Given the description of an element on the screen output the (x, y) to click on. 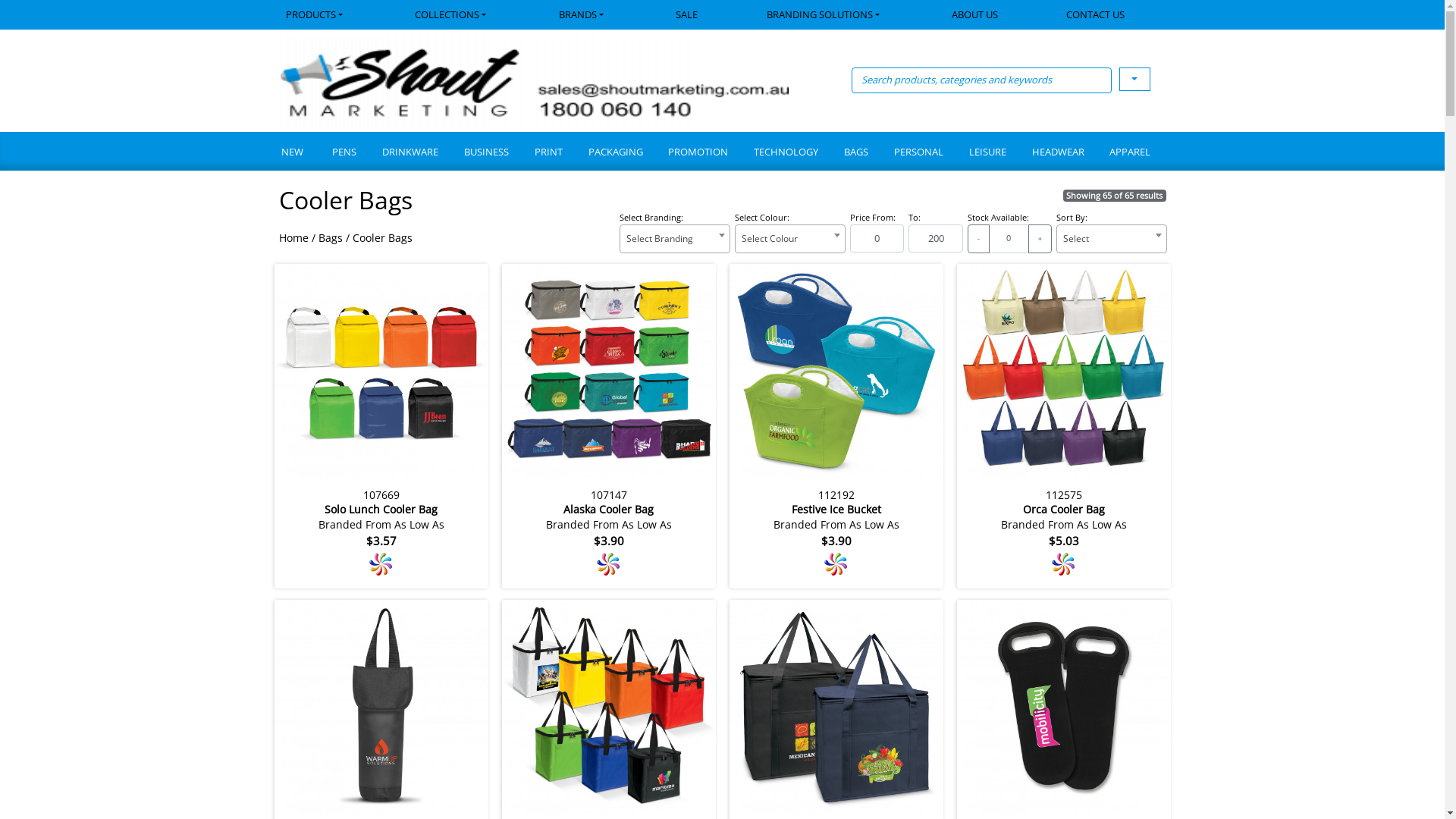
APPAREL Element type: text (1129, 152)
Full colour branding available. Element type: hover (1063, 563)
HEADWEAR Element type: text (1057, 152)
DRINKWARE Element type: text (409, 152)
ABOUT US Element type: text (975, 14)
+ Element type: text (1039, 238)
BRANDING SOLUTIONS Element type: text (824, 14)
PRINT Element type: text (547, 152)
Home Element type: text (293, 237)
BUSINESS Element type: text (485, 152)
PENS Element type: text (344, 152)
PERSONAL Element type: text (917, 152)
PROMOTION Element type: text (697, 152)
PRODUCTS Element type: text (330, 14)
- Element type: text (978, 238)
SALE Element type: text (687, 14)
107147
Alaska Cooler Bag
Branded From As Low As
$3.90 Element type: text (608, 424)
  Element type: text (1134, 79)
Full colour branding available. Element type: hover (608, 563)
LEISURE Element type: text (986, 152)
NEW Element type: text (299, 152)
Cooler Bags Element type: text (381, 237)
107669
Solo Lunch Cooler Bag
Branded From As Low As
$3.57 Element type: text (381, 424)
COLLECTIONS Element type: text (452, 14)
TECHNOLOGY Element type: text (785, 152)
BAGS Element type: text (855, 152)
112575
Orca Cooler Bag
Branded From As Low As
$5.03 Element type: text (1063, 424)
Full colour branding available. Element type: hover (835, 563)
Full colour branding available. Element type: hover (380, 563)
BRANDS Element type: text (582, 14)
112192
Festive Ice Bucket
Branded From As Low As
$3.90 Element type: text (836, 424)
PACKAGING Element type: text (614, 152)
Bags Element type: text (330, 237)
CONTACT US Element type: text (1095, 14)
